Given the description of an element on the screen output the (x, y) to click on. 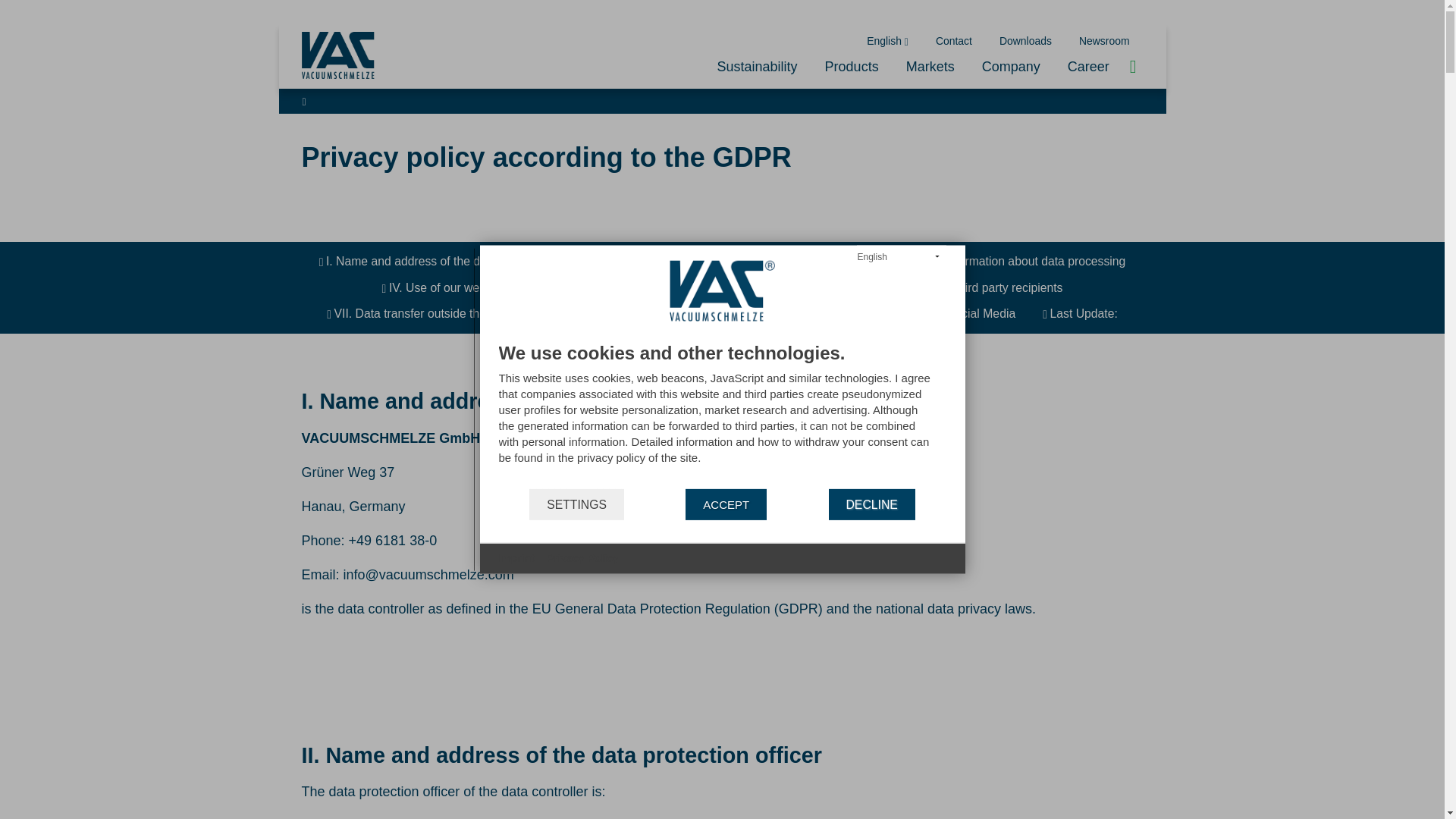
Newsroom (1103, 41)
Contact (953, 41)
Products (851, 67)
Career (1088, 67)
I. Name and address of the data controller (434, 261)
Sustainability (756, 67)
English (887, 41)
Company (1011, 67)
Markets (930, 67)
